Given the description of an element on the screen output the (x, y) to click on. 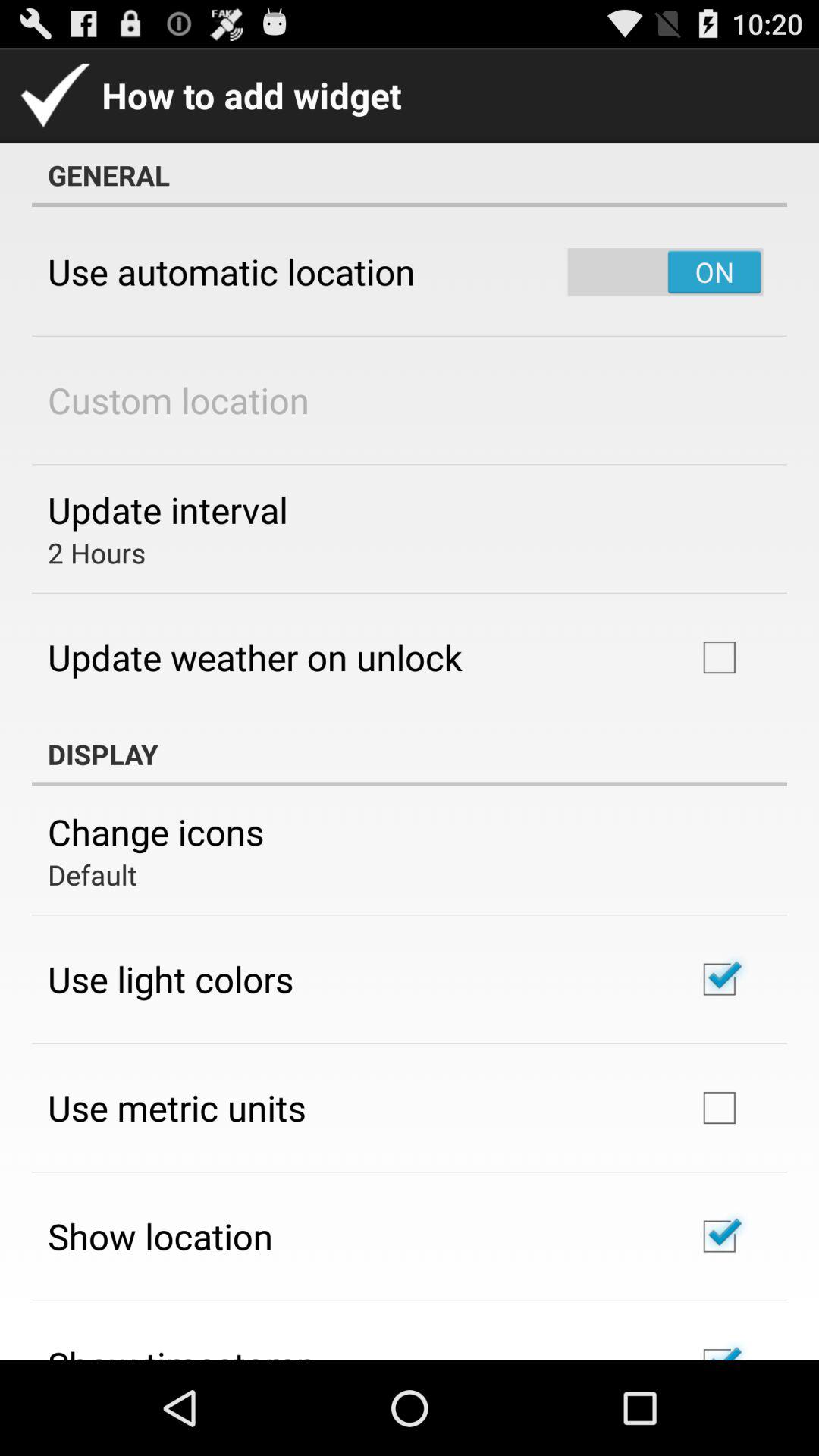
jump until show timestamp icon (181, 1350)
